Given the description of an element on the screen output the (x, y) to click on. 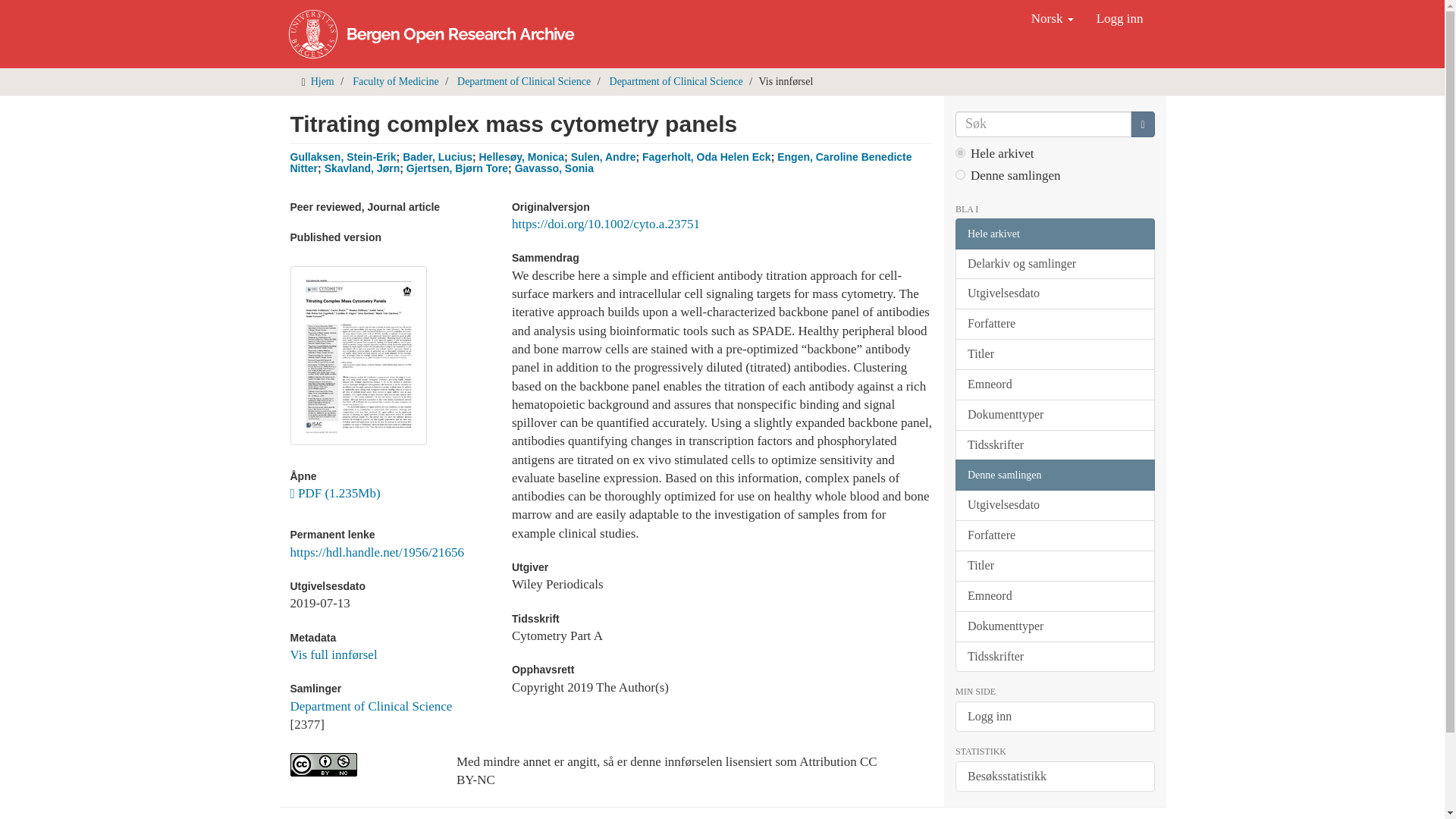
Fagerholt, Oda Helen Eck (706, 156)
Norsk  (1052, 18)
Department of Clinical Science (370, 706)
Gullaksen, Stein-Erik (342, 156)
Department of Clinical Science (676, 81)
Bader, Lucius (437, 156)
Gavasso, Sonia (554, 168)
Hjem (322, 81)
Department of Clinical Science (524, 81)
Logg inn (1119, 18)
